Given the description of an element on the screen output the (x, y) to click on. 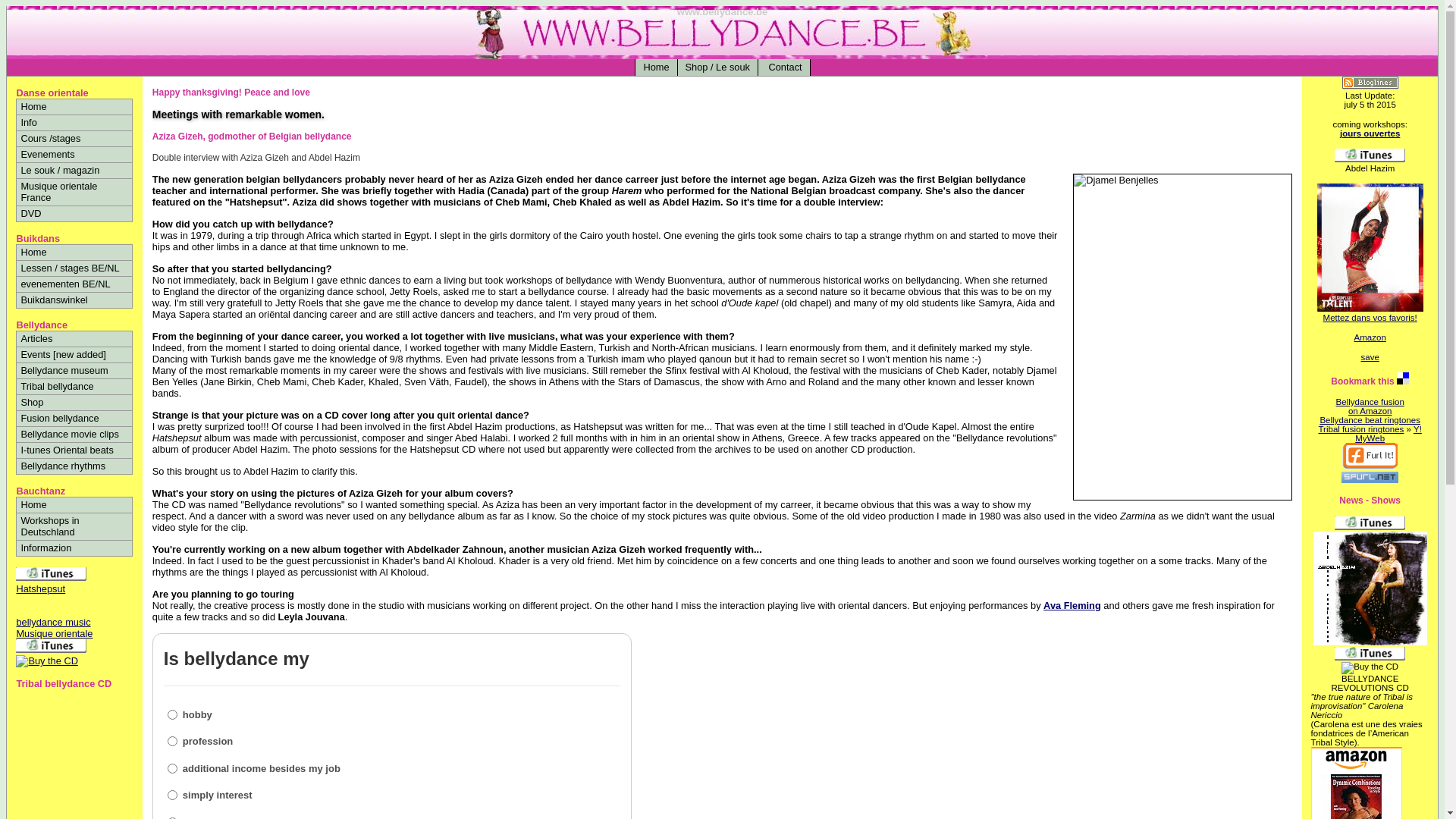
DVD Element type: text (73, 213)
Tribal bellydance Element type: text (73, 386)
order Tribal Bellydance with CD Baby Element type: hover (46, 660)
Bellydance fusion
on Amazon Element type: text (1370, 406)
Bellydance beat ringtones Element type: text (1369, 419)
Mettez dans vos favoris! Element type: text (1370, 317)
save Element type: text (1370, 356)
Ava Fleming Element type: text (1072, 605)
Hatshepsut Element type: text (50, 582)
order Tribal Bellydance with CD Baby Element type: hover (1370, 641)
Home Element type: text (73, 106)
Bellydance rhythms Element type: text (73, 465)
Home Element type: text (73, 252)
Y! MyWeb Element type: text (1388, 433)
Bellydance museum Element type: text (73, 370)
Shop Element type: text (73, 402)
Bellydance movie clips Element type: text (73, 434)
Fusion bellydance Element type: text (73, 418)
Workshops in Deutschland Element type: text (73, 526)
Musique orientale Element type: text (53, 633)
evenementen BE/NL Element type: text (73, 283)
Cours /stages Element type: text (73, 138)
Lessen / stages BE/NL Element type: text (73, 268)
Info Element type: text (73, 122)
Contact Element type: text (783, 67)
Informazion Element type: text (73, 547)
Evenements Element type: text (73, 154)
bellydance music Element type: text (52, 621)
Home Element type: text (655, 67)
jours ouvertes Element type: text (1369, 133)
Buikdanswinkel Element type: text (73, 299)
Tribal fusion ringtones Element type: text (1360, 428)
I-tunes Oriental beats Element type: text (73, 450)
Amazon Element type: text (1370, 337)
New on I-Tunes! Bellydance revolutions Element type: hover (1369, 657)
Articles Element type: text (73, 338)
Musique orientale
France Element type: text (73, 191)
Oon I-Tunes! Tribal Bellydance Element type: hover (1369, 526)
Djamel Ben Yelles Element type: hover (1182, 336)
Le souk / magazin Element type: text (73, 170)
Shop / Le souk Element type: text (717, 67)
Events [new added] Element type: text (73, 354)
Home Element type: text (73, 504)
